Given the description of an element on the screen output the (x, y) to click on. 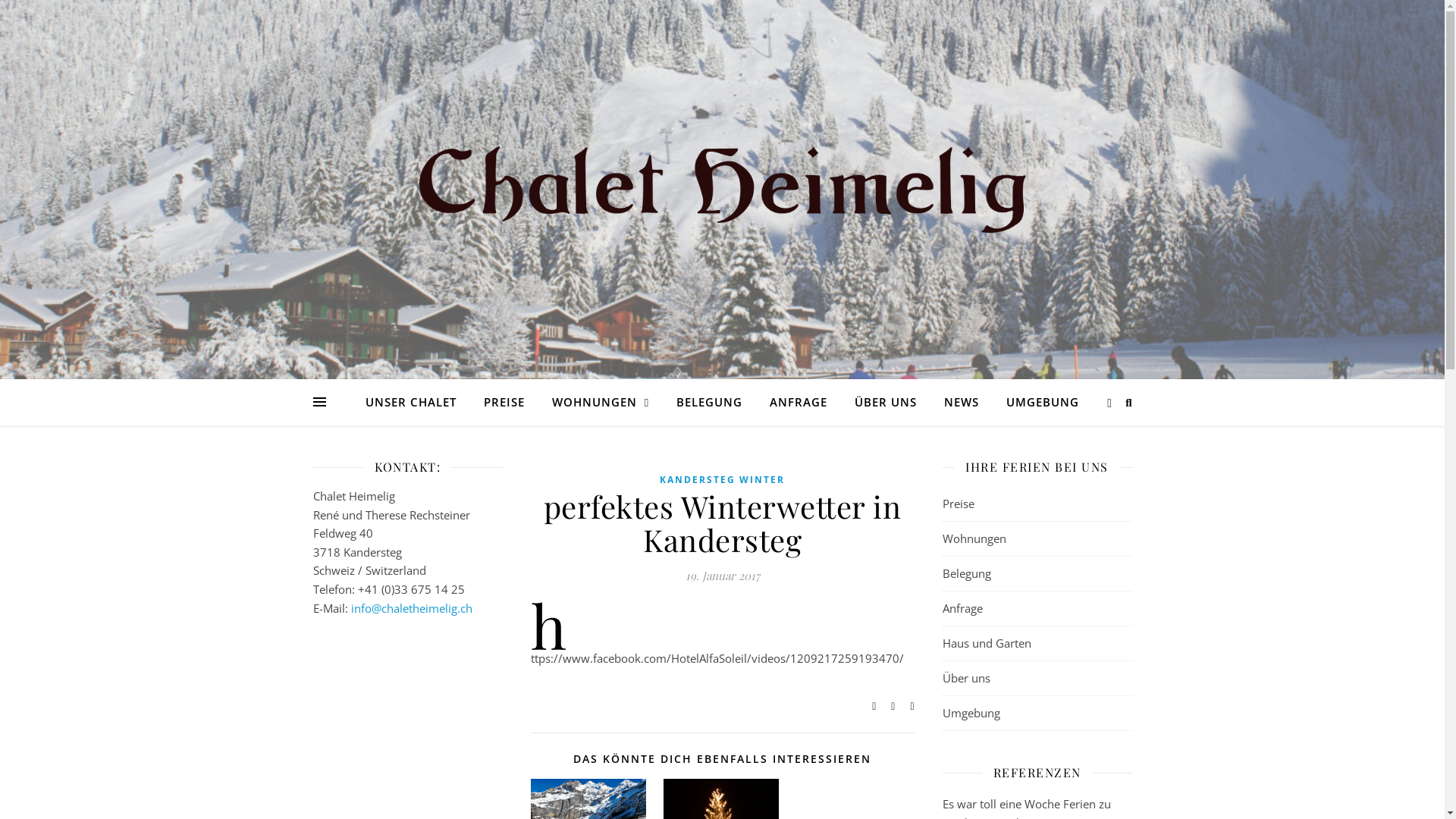
Anfrage Element type: text (1036, 608)
Haus und Garten Element type: text (1036, 643)
info@chaletheimelig.ch Element type: text (410, 607)
PREISE Element type: text (503, 401)
Wohnungen Element type: text (1036, 538)
BELEGUNG Element type: text (709, 401)
Belegung Element type: text (1036, 573)
Chalet Heimelig Element type: hover (721, 189)
UMGEBUNG Element type: text (1036, 401)
UNSER CHALET Element type: text (416, 401)
NEWS Element type: text (961, 401)
Preise Element type: text (1036, 503)
WOHNUNGEN Element type: text (600, 402)
Umgebung Element type: text (1036, 713)
ANFRAGE Element type: text (798, 401)
KANDERSTEG WINTER Element type: text (721, 479)
